Given the description of an element on the screen output the (x, y) to click on. 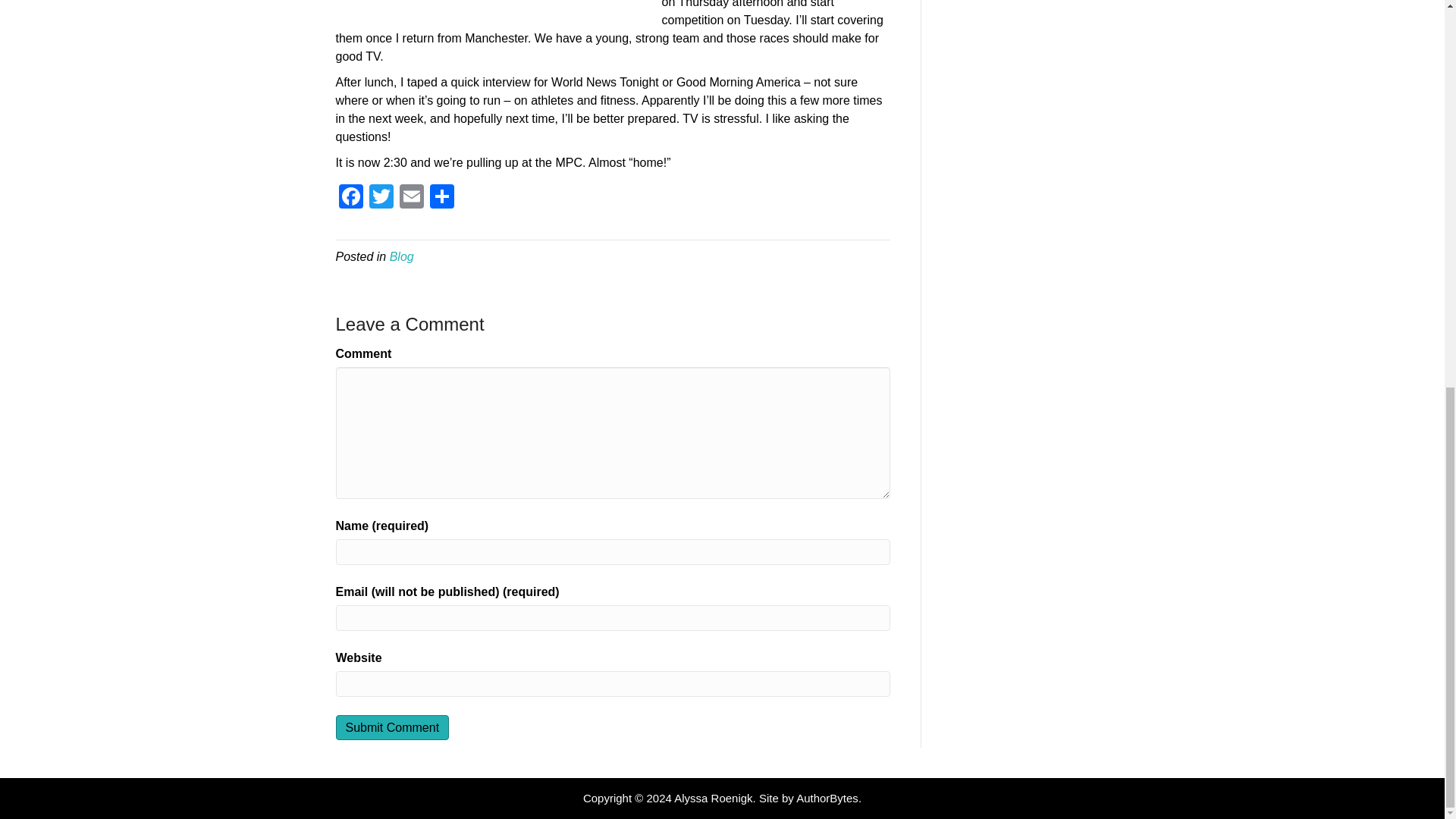
Facebook (349, 198)
Email (411, 198)
AuthorBytes (827, 797)
Blog (401, 256)
Submit Comment (391, 727)
Twitter (380, 198)
Facebook (349, 198)
Email (411, 198)
Twitter (380, 198)
Submit Comment (391, 727)
